Given the description of an element on the screen output the (x, y) to click on. 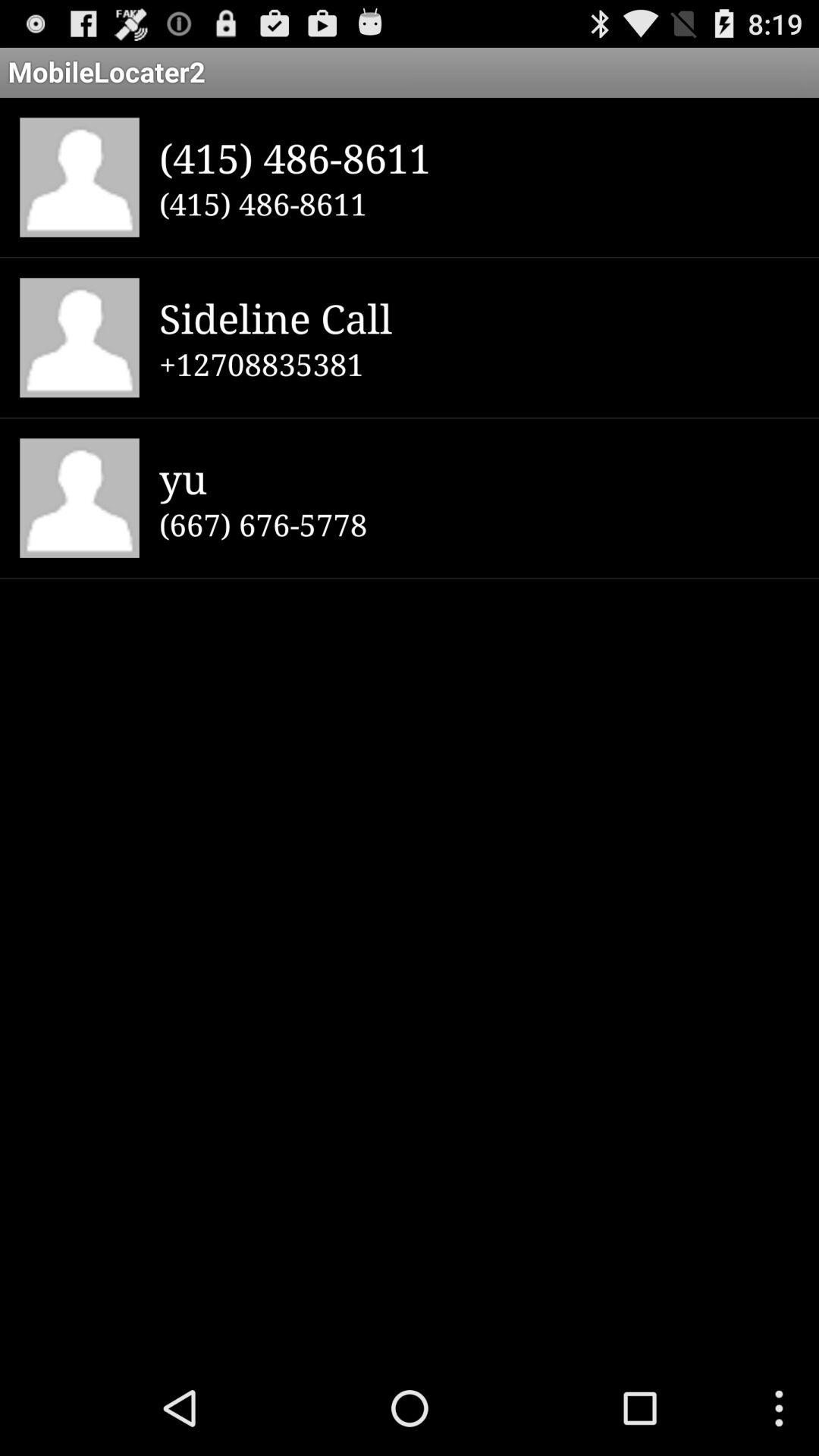
click app at the center (479, 524)
